Given the description of an element on the screen output the (x, y) to click on. 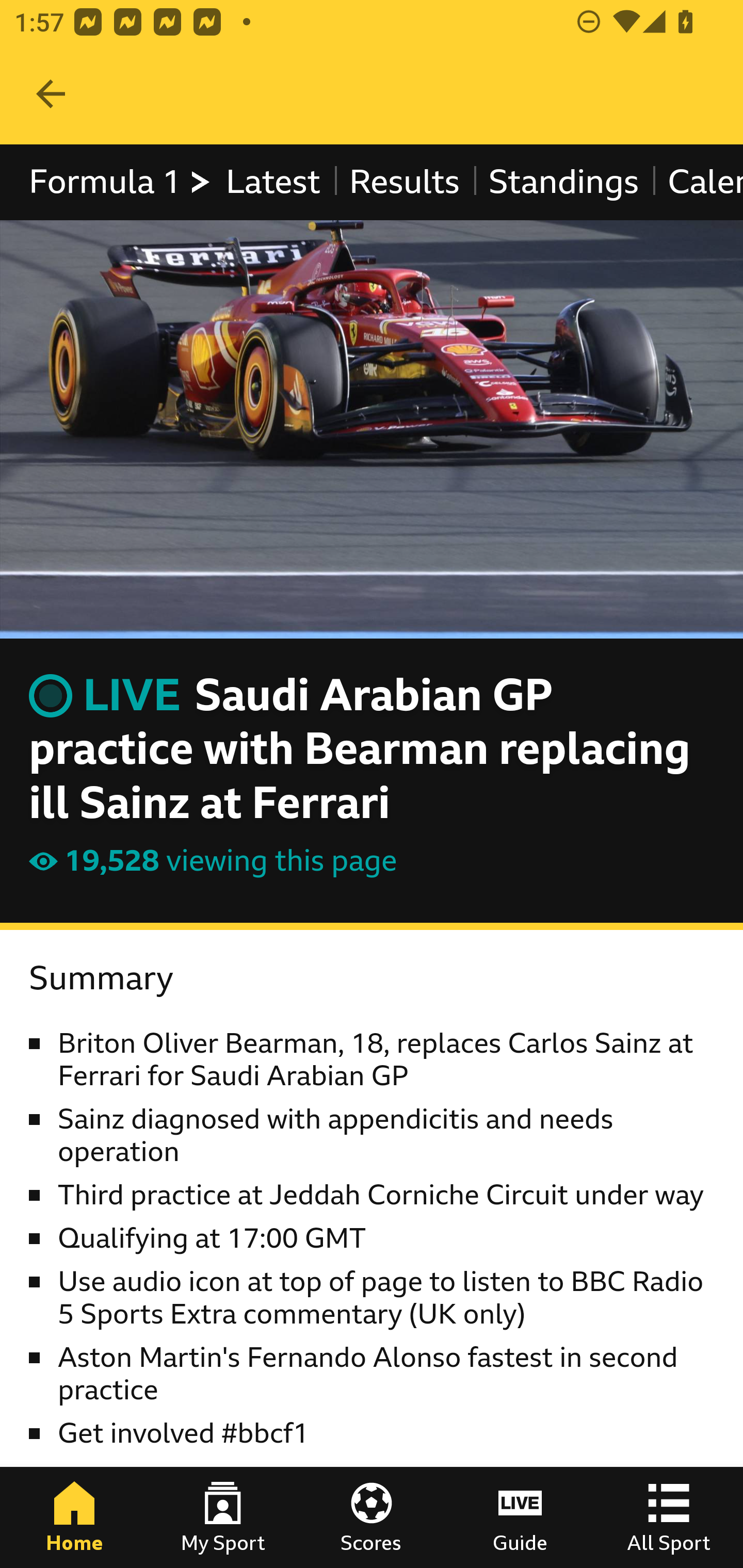
Navigate up (50, 93)
Formula 1  (120, 181)
Latest (272, 181)
Results (403, 181)
Standings (564, 181)
My Sport (222, 1517)
Scores (371, 1517)
Guide (519, 1517)
All Sport (668, 1517)
